Given the description of an element on the screen output the (x, y) to click on. 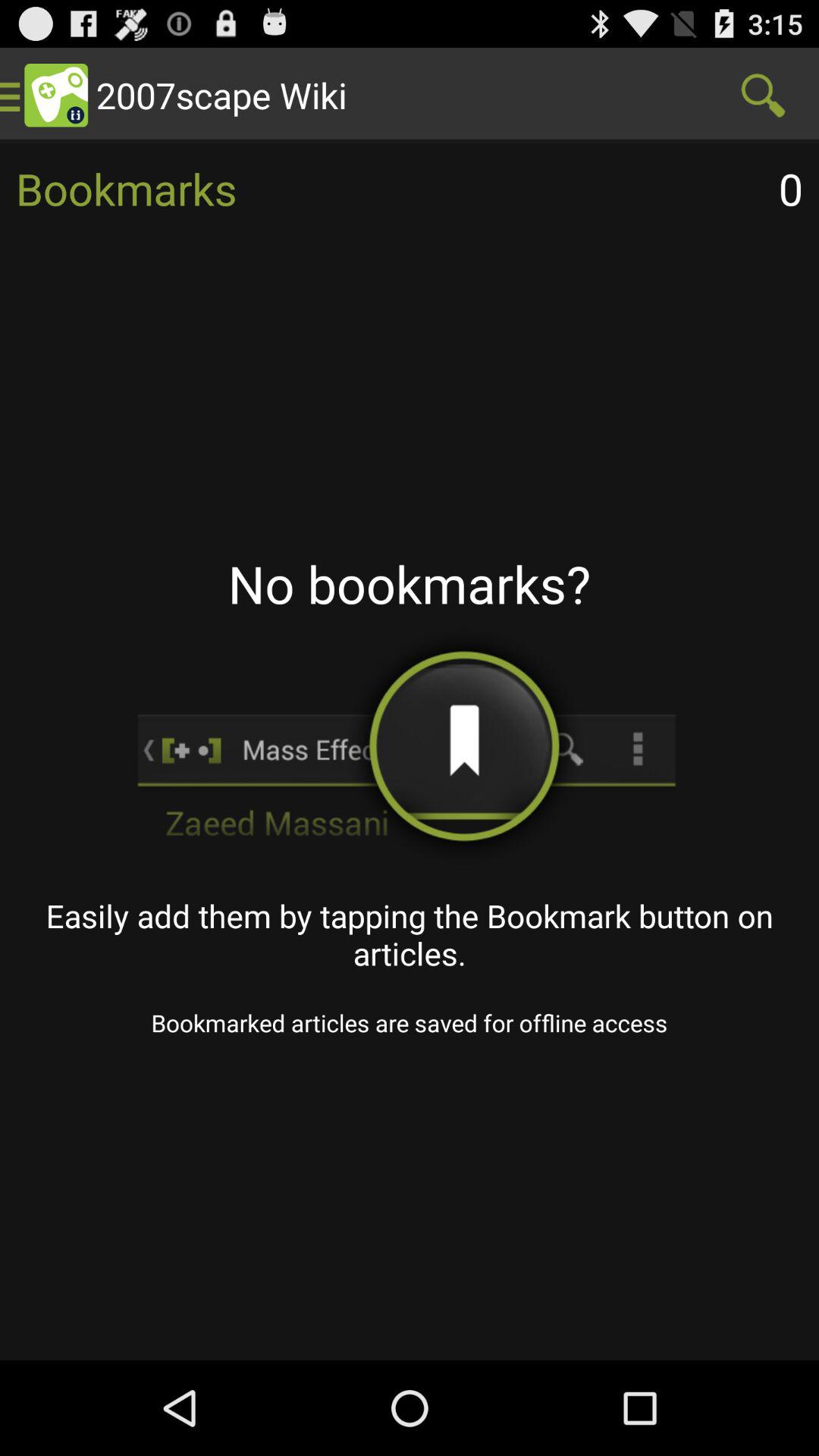
tap item next to the 2007scape wiki item (763, 95)
